Given the description of an element on the screen output the (x, y) to click on. 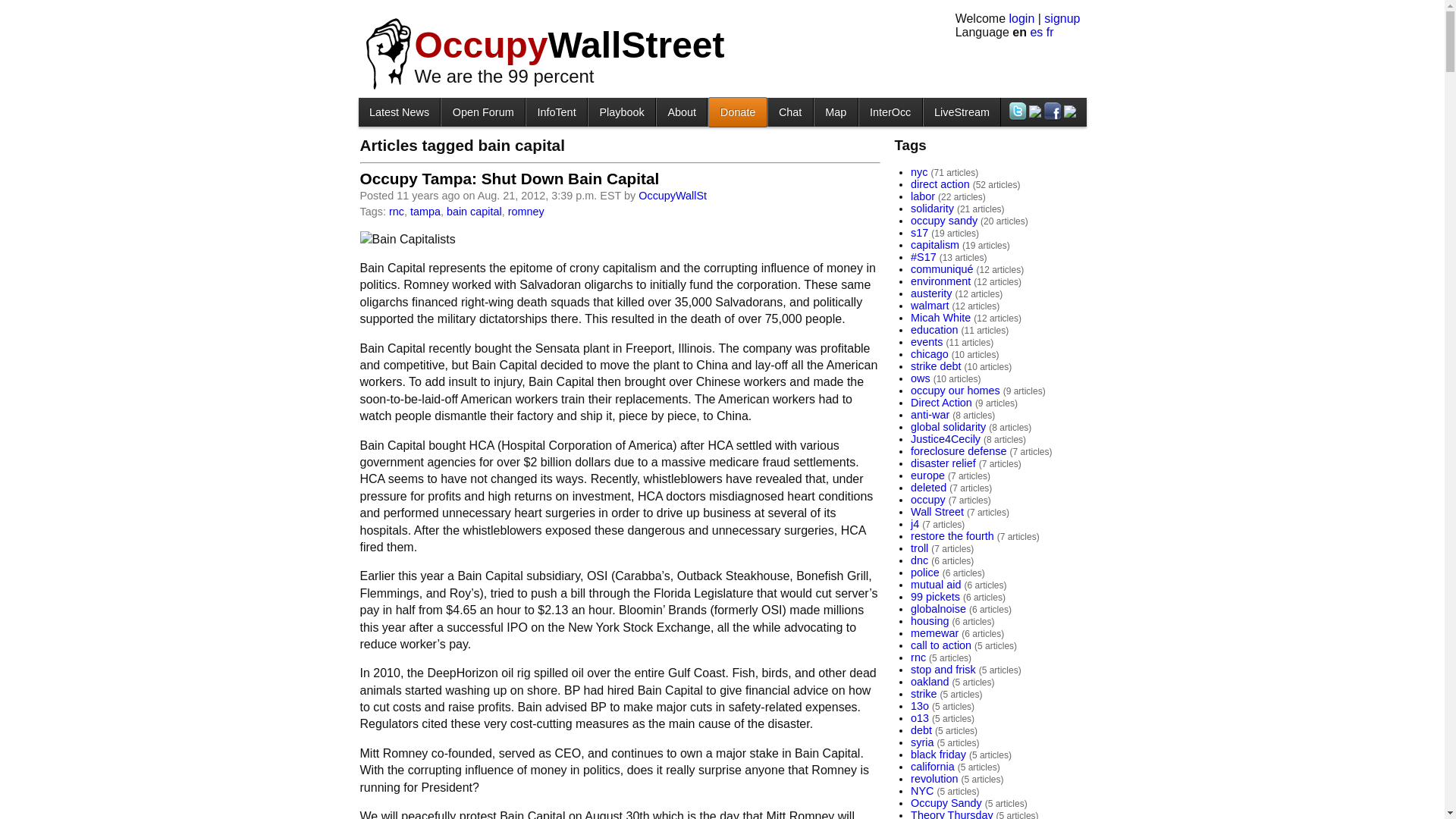
rnc (396, 211)
bain capital (474, 211)
Playbook (621, 111)
Online Guide to the Occupy movement (555, 111)
OccupyWallStreet (568, 45)
Latest News (398, 111)
News Articles (398, 111)
tampa (425, 211)
romney (526, 211)
OccupyWallSt (672, 195)
Occupy Tampa: Shut Down Bain Capital (509, 178)
About Us (681, 111)
The End of Protest (621, 111)
InfoTent (555, 111)
Public discussion board (482, 111)
